Given the description of an element on the screen output the (x, y) to click on. 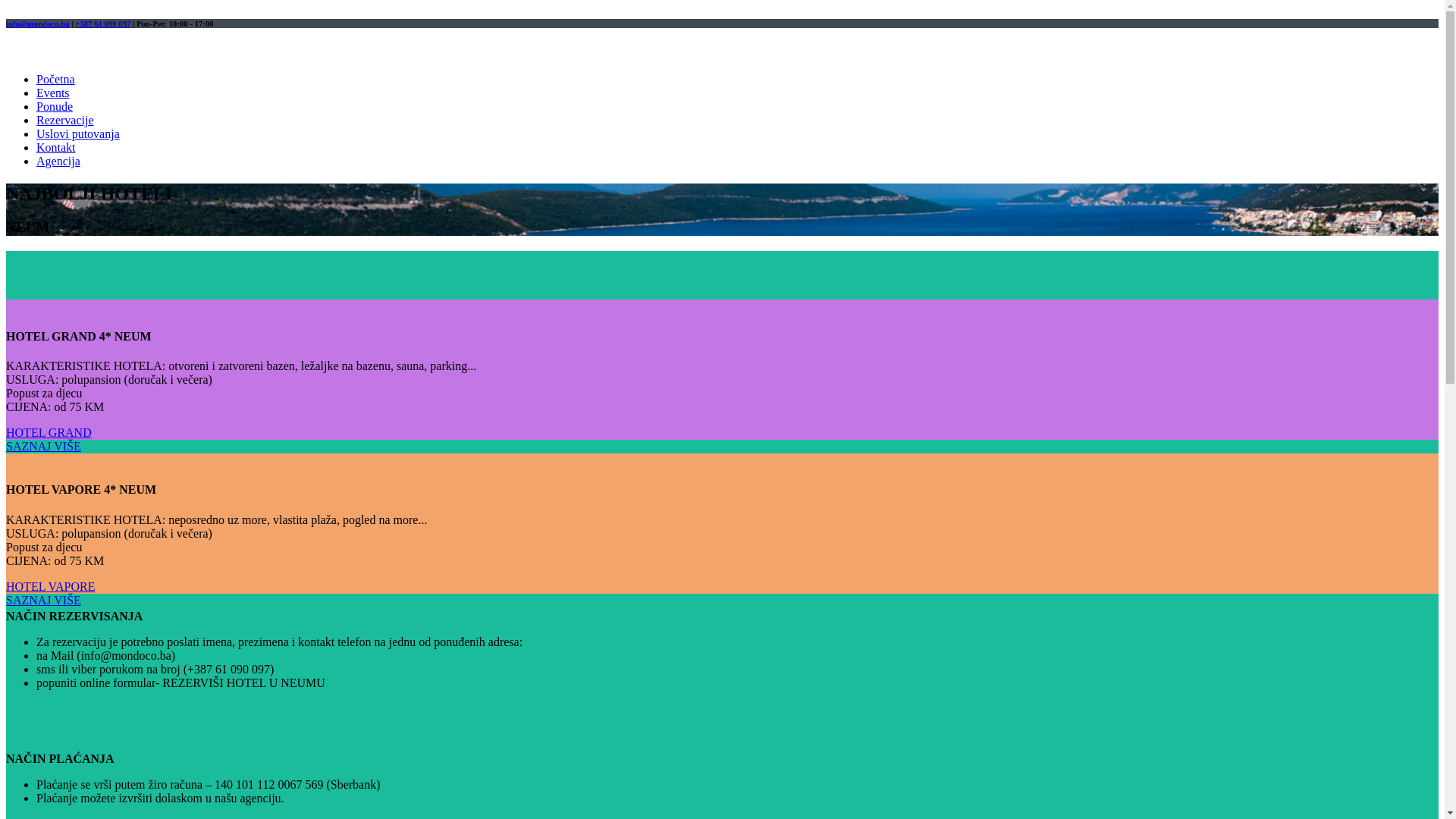
Events Element type: text (52, 92)
Uslovi putovanja Element type: text (77, 133)
+387 61 090 097 Element type: text (102, 23)
Ponude Element type: text (54, 106)
info@mondoco.ba Element type: text (37, 23)
Rezervacije Element type: text (65, 119)
Kontakt Element type: text (55, 147)
HOTEL GRAND Element type: text (48, 432)
HOTEL VAPORE Element type: text (50, 586)
Agencija Element type: text (58, 160)
